Given the description of an element on the screen output the (x, y) to click on. 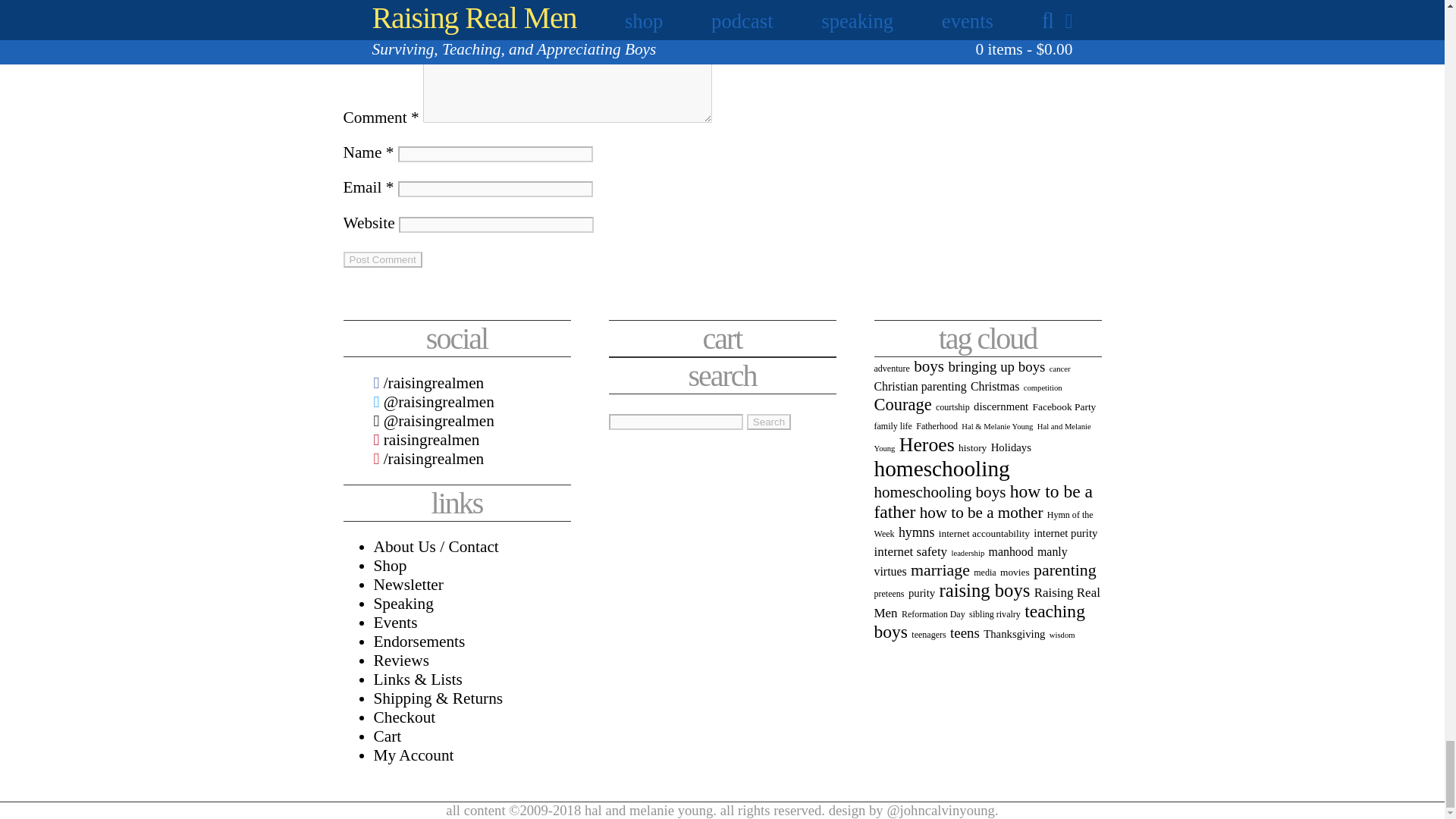
Search (768, 421)
Post Comment (382, 259)
